Given the description of an element on the screen output the (x, y) to click on. 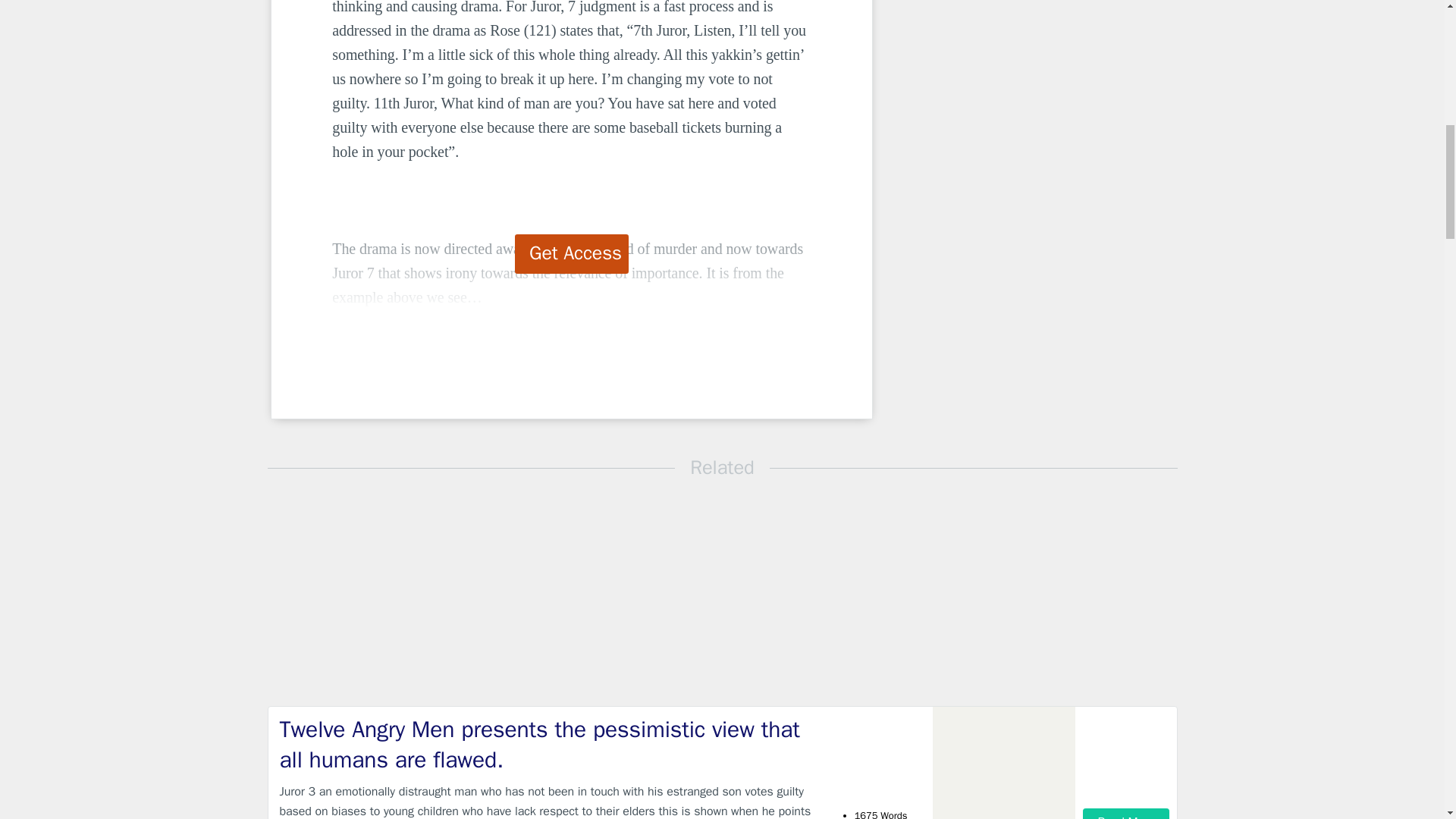
Read More (1126, 813)
Get Access (571, 253)
